Given the description of an element on the screen output the (x, y) to click on. 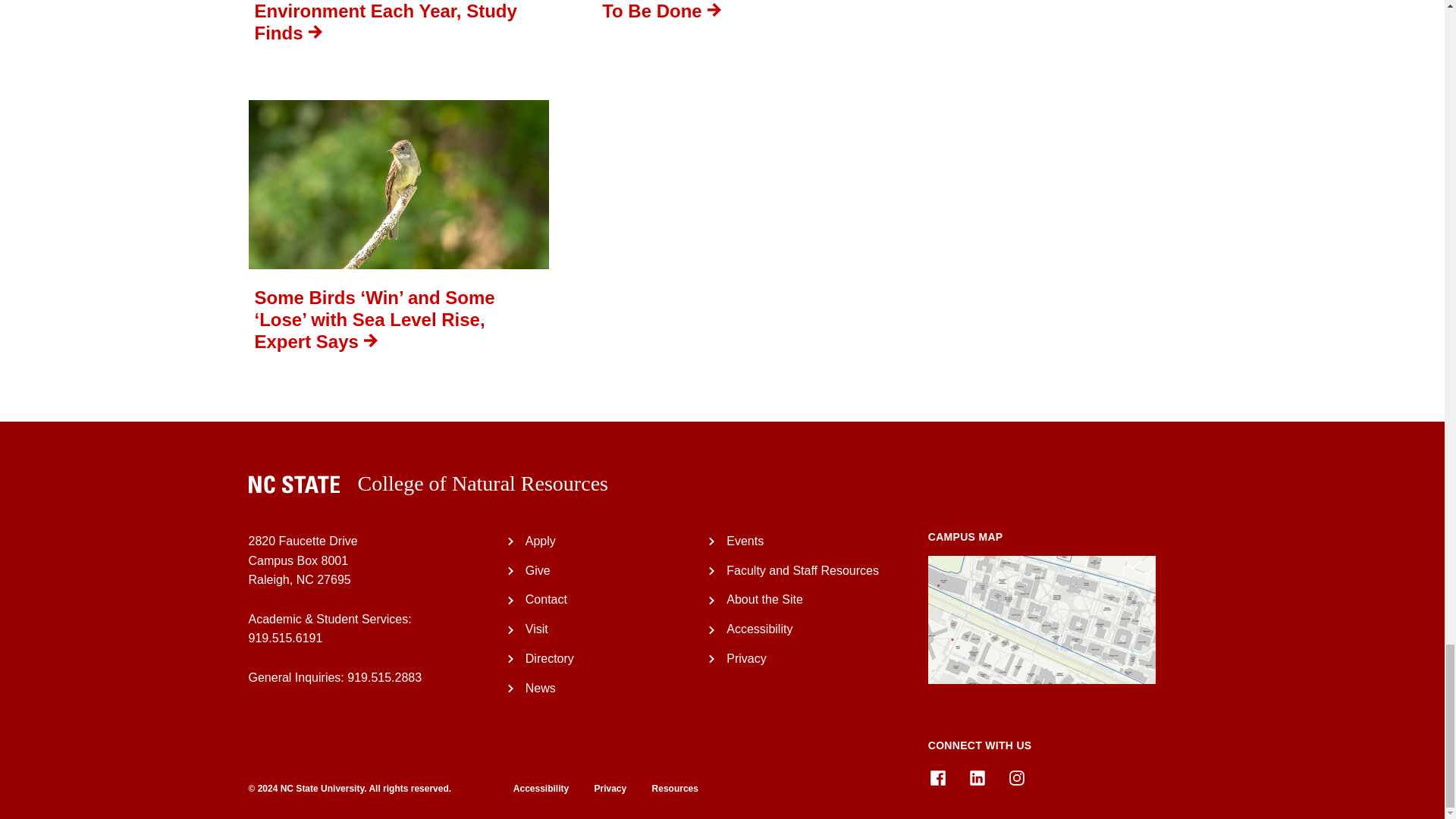
Give (537, 570)
Visit (536, 628)
Contact (546, 599)
Accessibility (541, 787)
About the Site (764, 599)
Events (744, 540)
Directory (549, 658)
Facebook (937, 777)
LinkedIn (977, 777)
News (540, 687)
Accessibility (759, 628)
Privacy (599, 787)
Apply (540, 540)
Instagram (1016, 777)
Resources (663, 787)
